Given the description of an element on the screen output the (x, y) to click on. 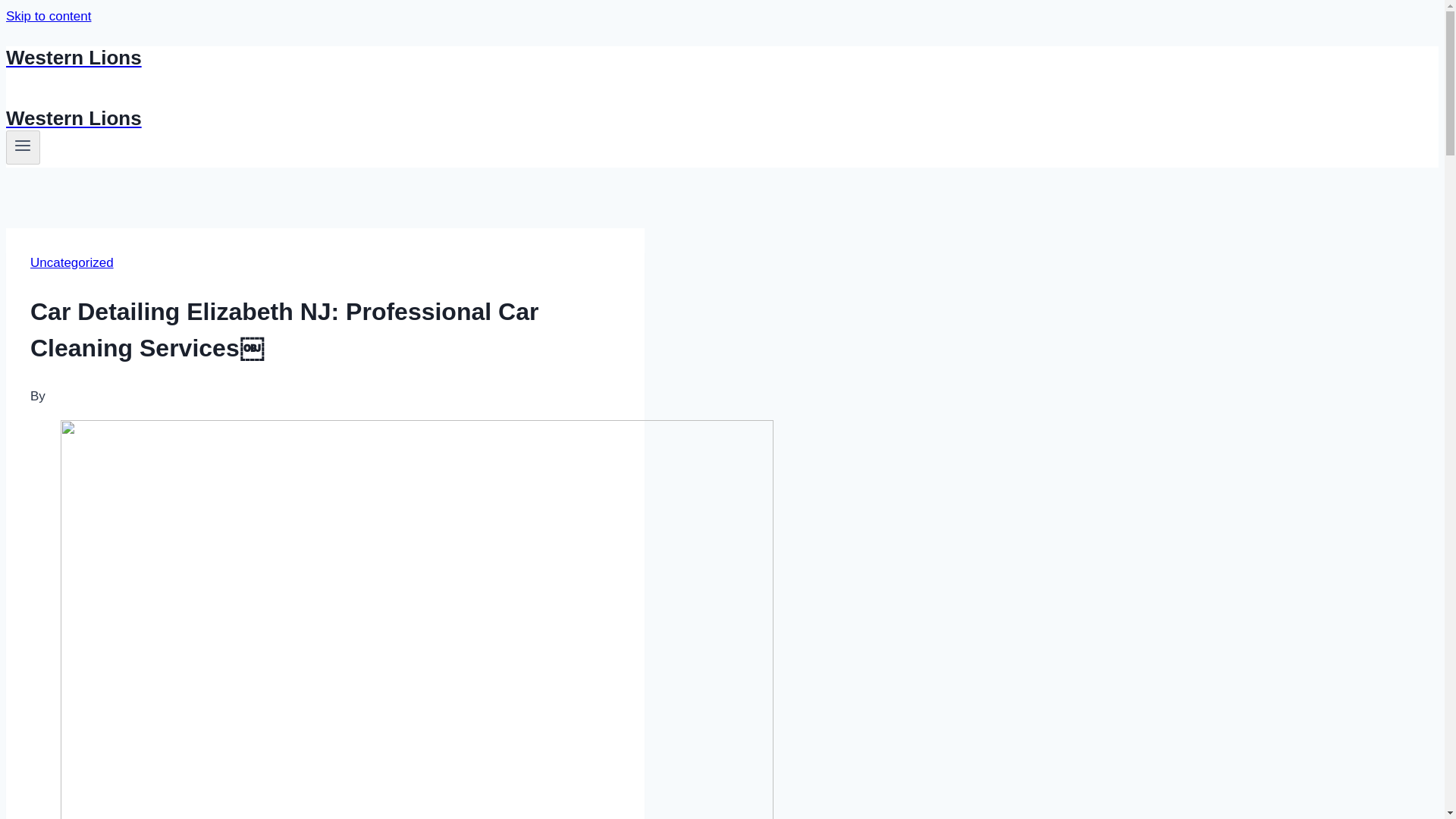
Toggle Menu (22, 145)
Western Lions (494, 57)
Skip to content (47, 16)
Western Lions (494, 118)
Toggle Menu (22, 146)
Skip to content (47, 16)
Uncategorized (71, 262)
